Given the description of an element on the screen output the (x, y) to click on. 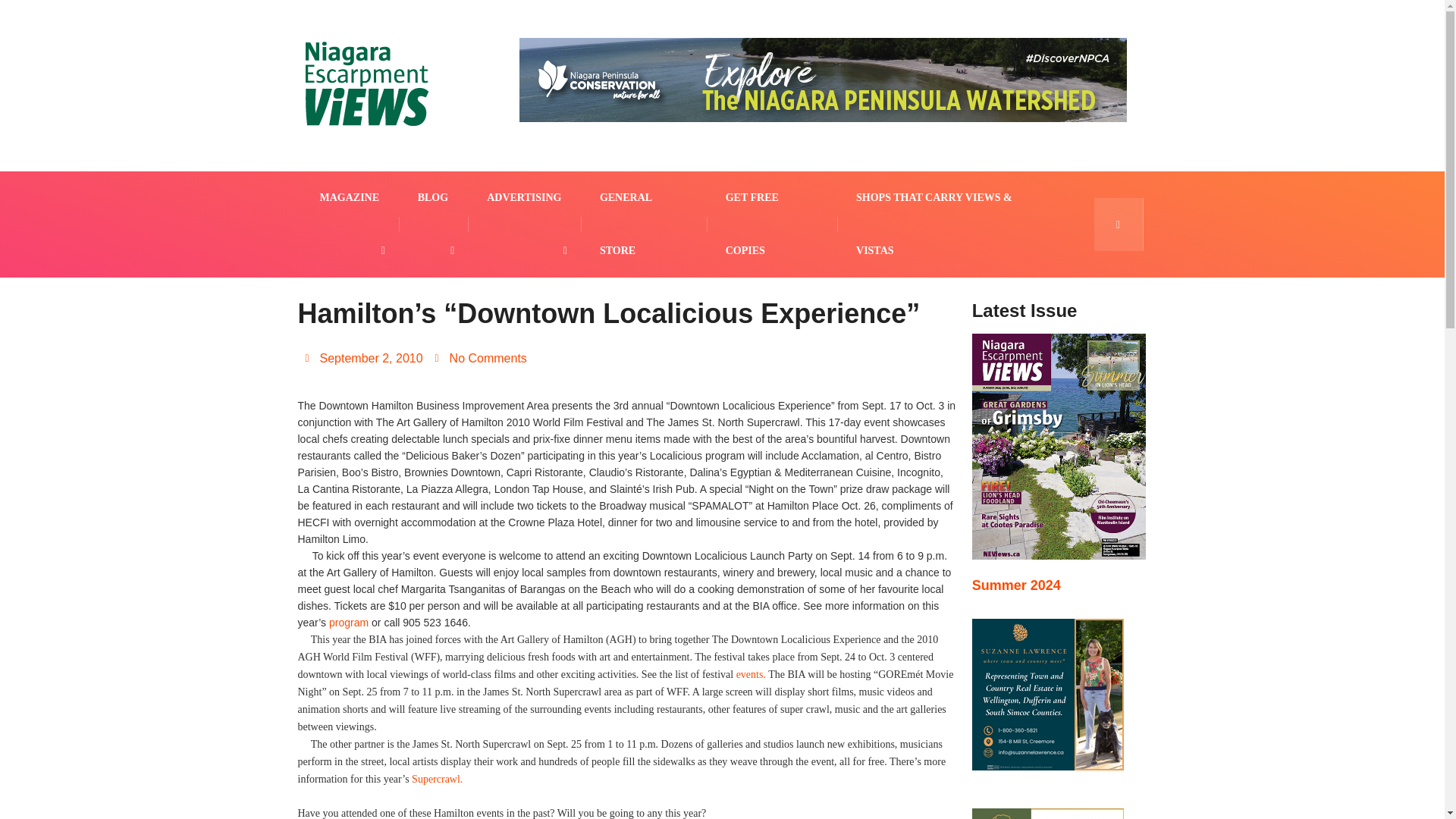
ADVERTISING (524, 197)
events. (750, 674)
Summer 2024 (1016, 585)
MAGAZINE (350, 197)
program (348, 622)
Supercrawl. (437, 778)
GENERAL STORE (643, 224)
BLOG (434, 197)
No Comments (481, 358)
GET FREE COPIES (772, 224)
September 2, 2010 (363, 358)
